Given the description of an element on the screen output the (x, y) to click on. 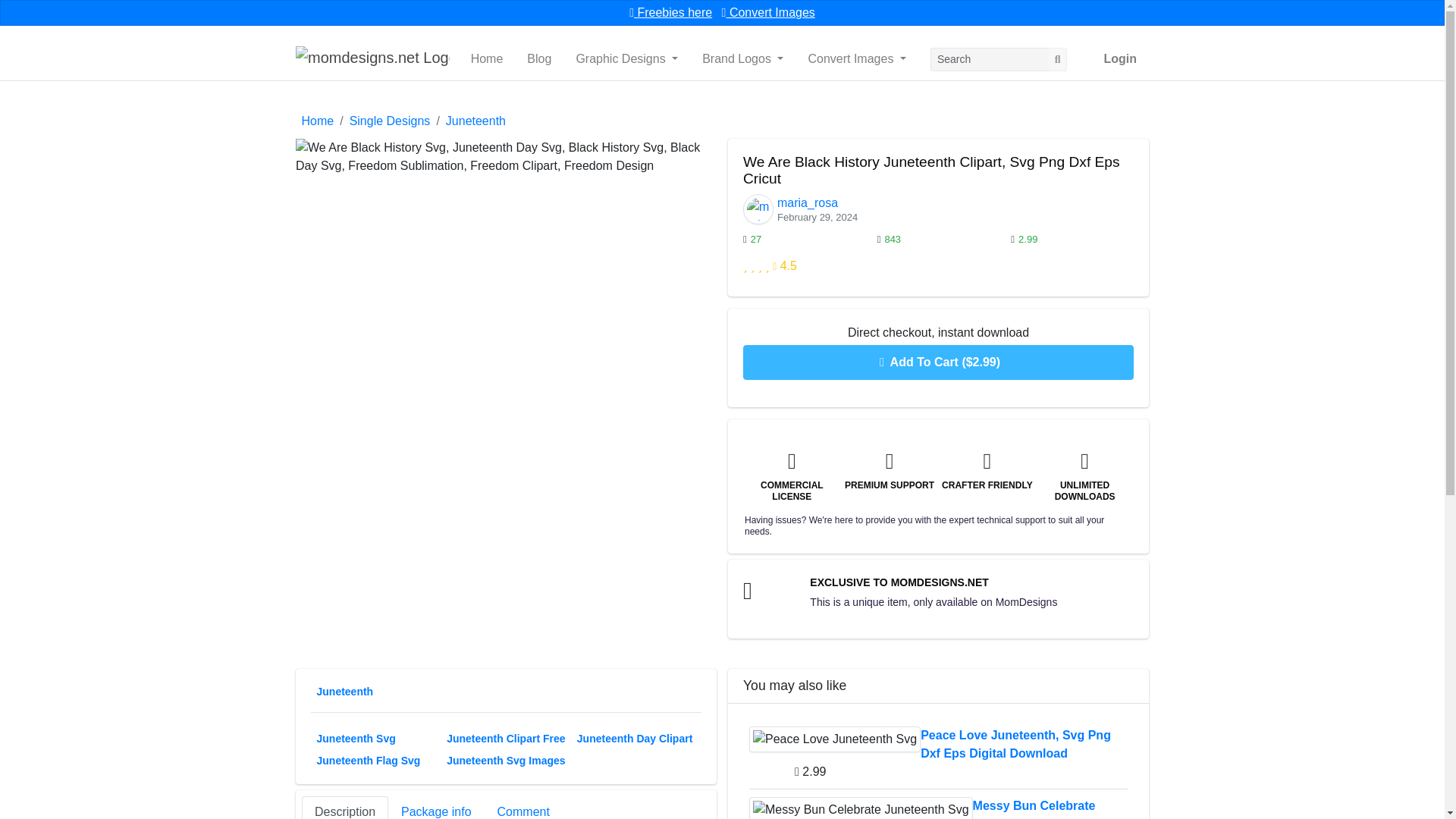
Freebies here (669, 11)
Graphic Designs (626, 59)
Blog (539, 59)
Peace Love Juneteenth, Svg Png Dxf Eps Digital Download (834, 739)
Home (486, 59)
Convert Images (768, 11)
